Given the description of an element on the screen output the (x, y) to click on. 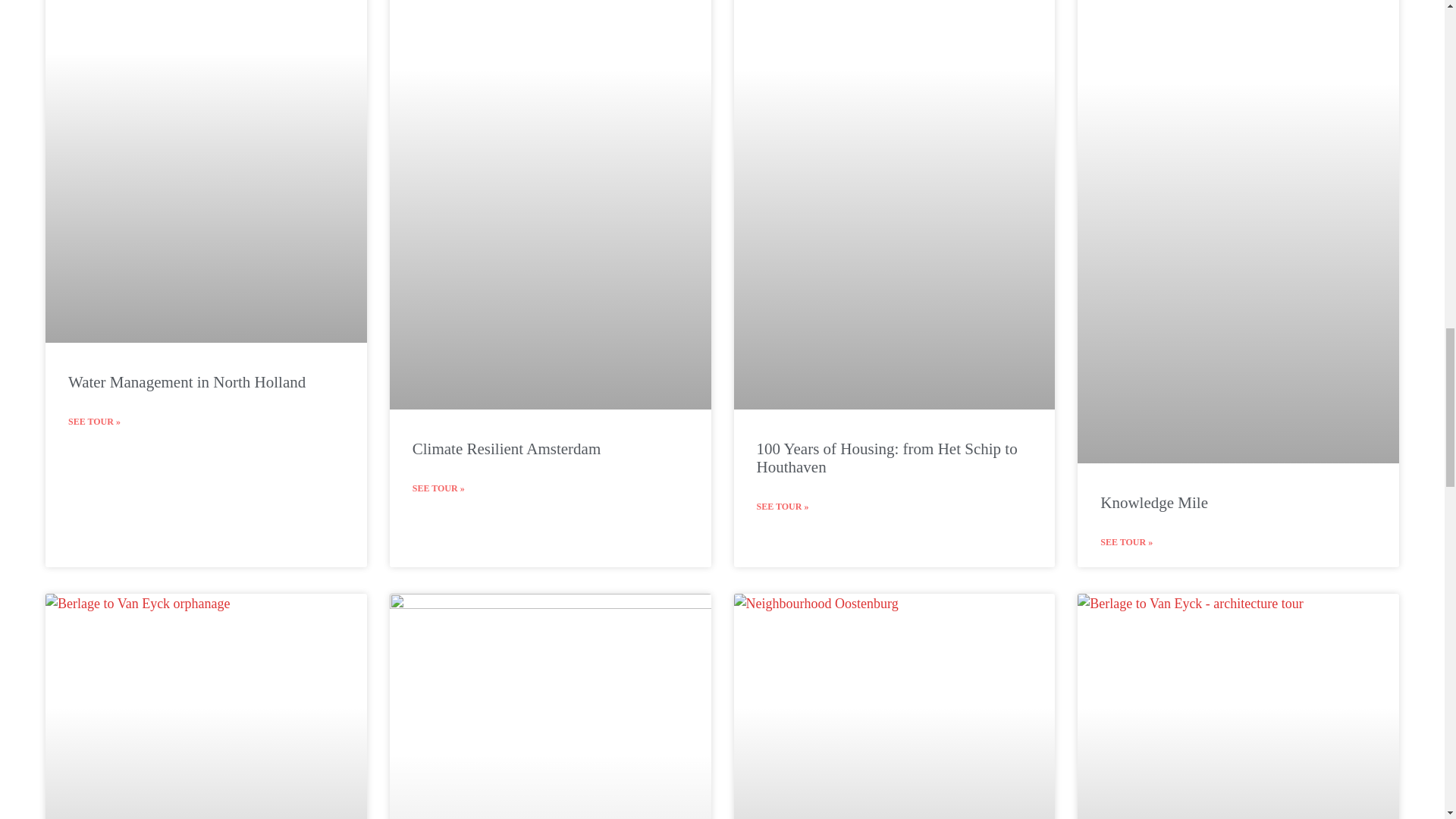
Knowledge Mile  (1155, 502)
Climate Resilient Amsterdam  (508, 448)
100 Years of Housing: from Het Schip to Houthaven  (887, 457)
Water Management in North Holland  (188, 382)
